Given the description of an element on the screen output the (x, y) to click on. 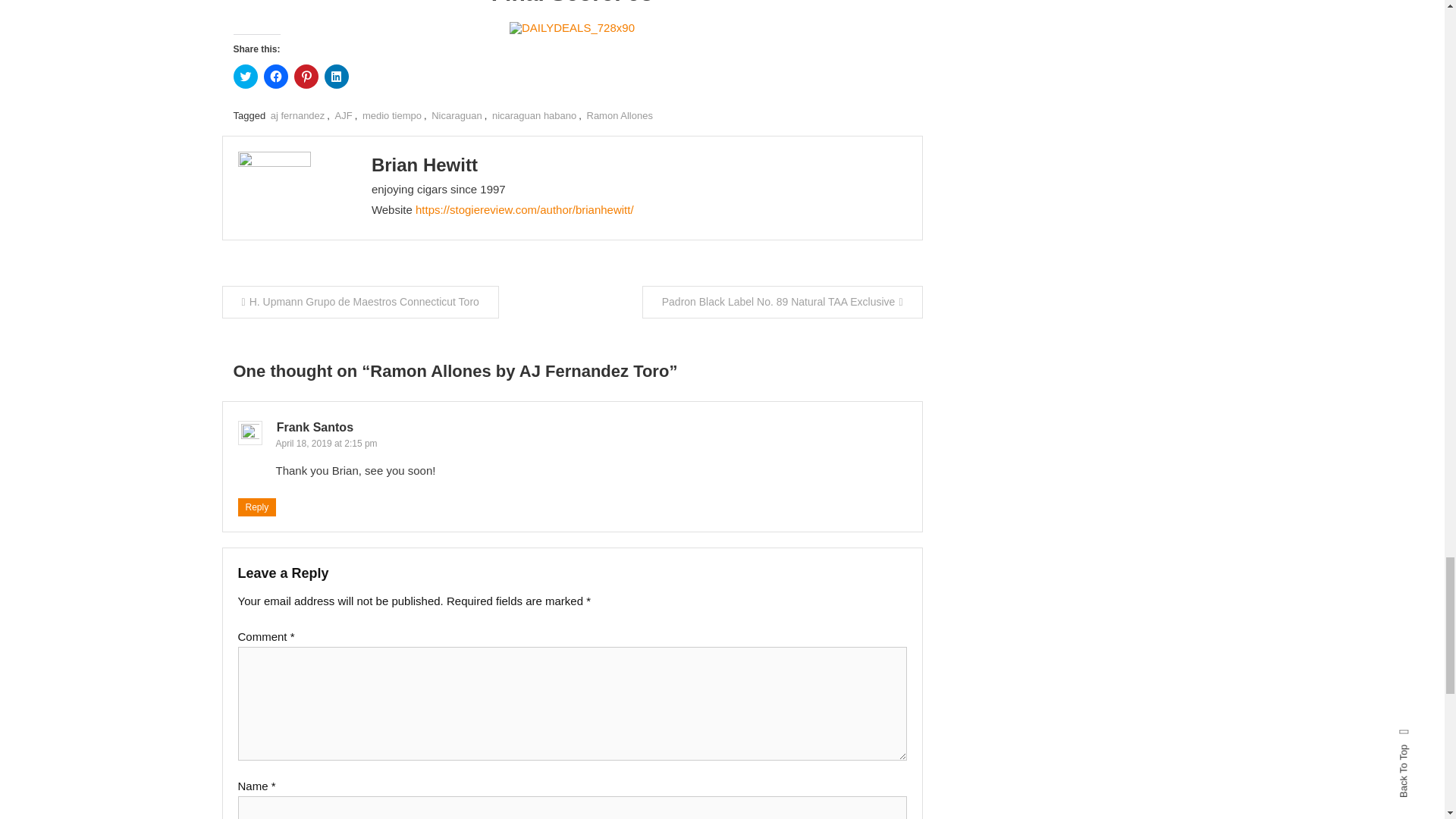
aj fernandez (297, 115)
nicaraguan habano (534, 115)
medio tiempo (392, 115)
Click to share on Pinterest (306, 76)
Nicaraguan (455, 115)
AJF (343, 115)
Click to share on Twitter (244, 76)
Click to share on LinkedIn (336, 76)
Click to share on Facebook (275, 76)
Posts by Brian Hewitt (424, 164)
